Given the description of an element on the screen output the (x, y) to click on. 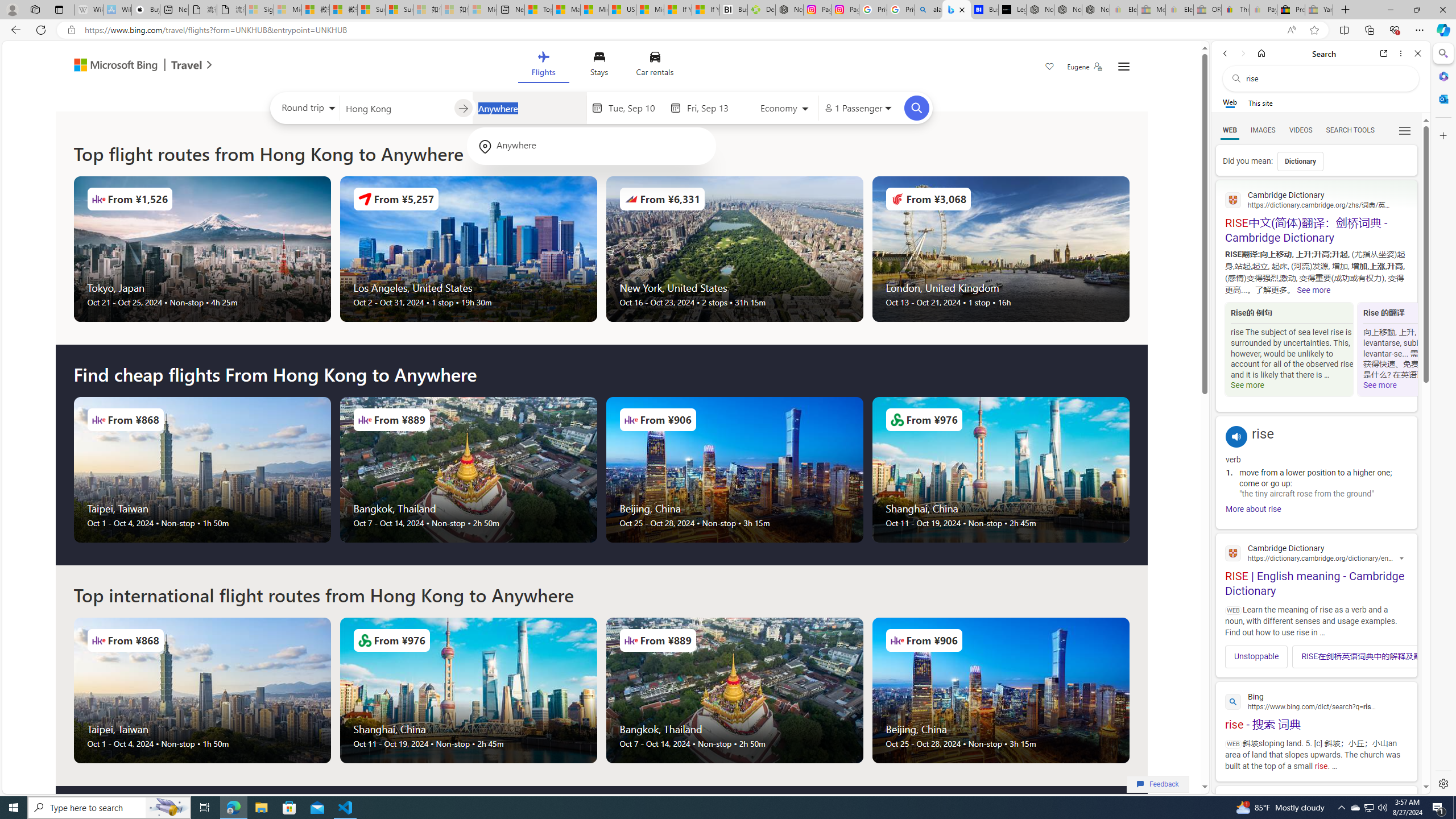
Payments Terms of Use | eBay.com - Sleeping (1262, 9)
Car rentals (654, 65)
